Given the description of an element on the screen output the (x, y) to click on. 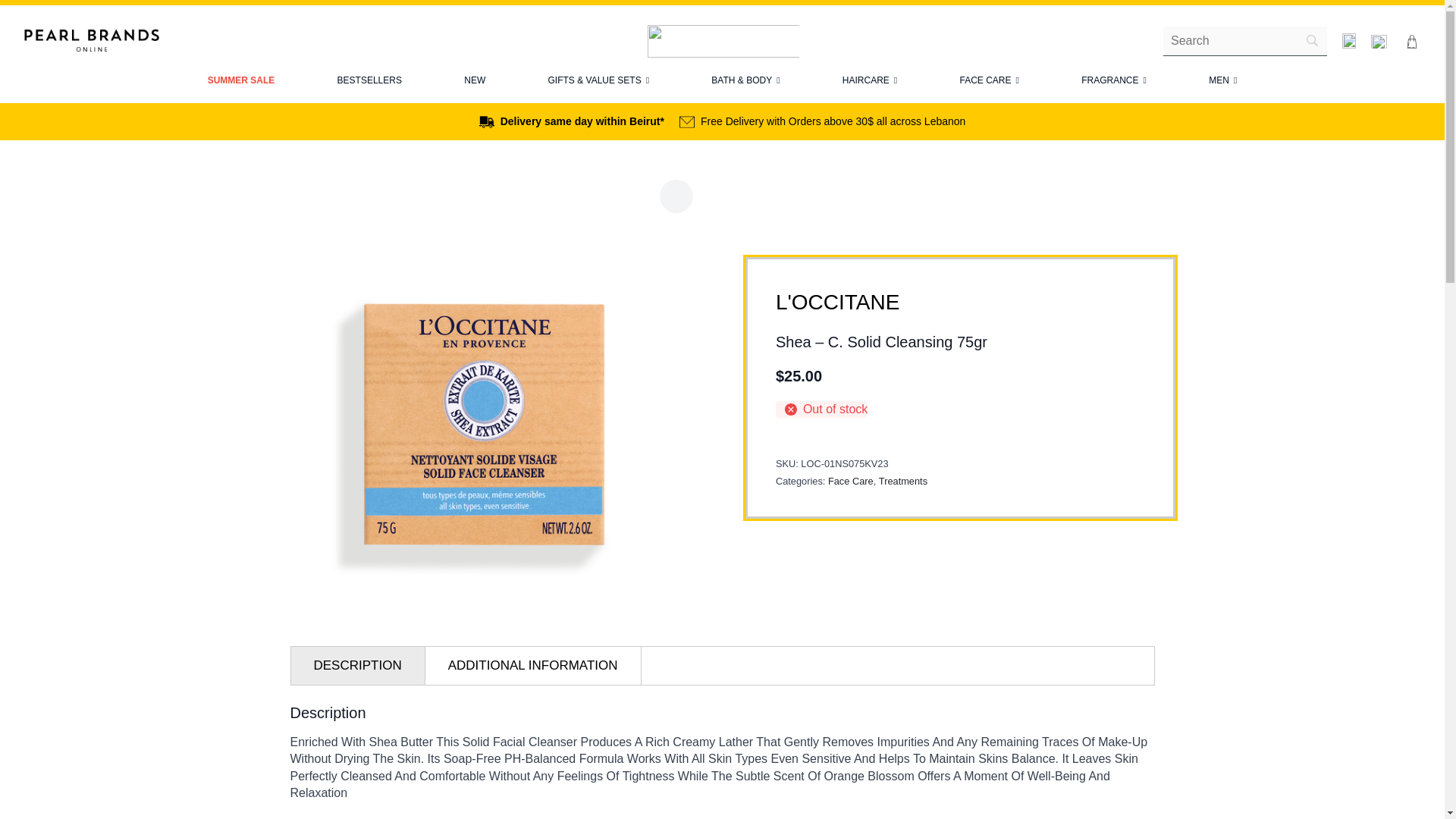
FACE CARE (989, 80)
NEW (475, 80)
SUMMER SALE (241, 80)
HAIRCARE (869, 80)
BESTSELLERS (369, 80)
Search (721, 665)
